Given the description of an element on the screen output the (x, y) to click on. 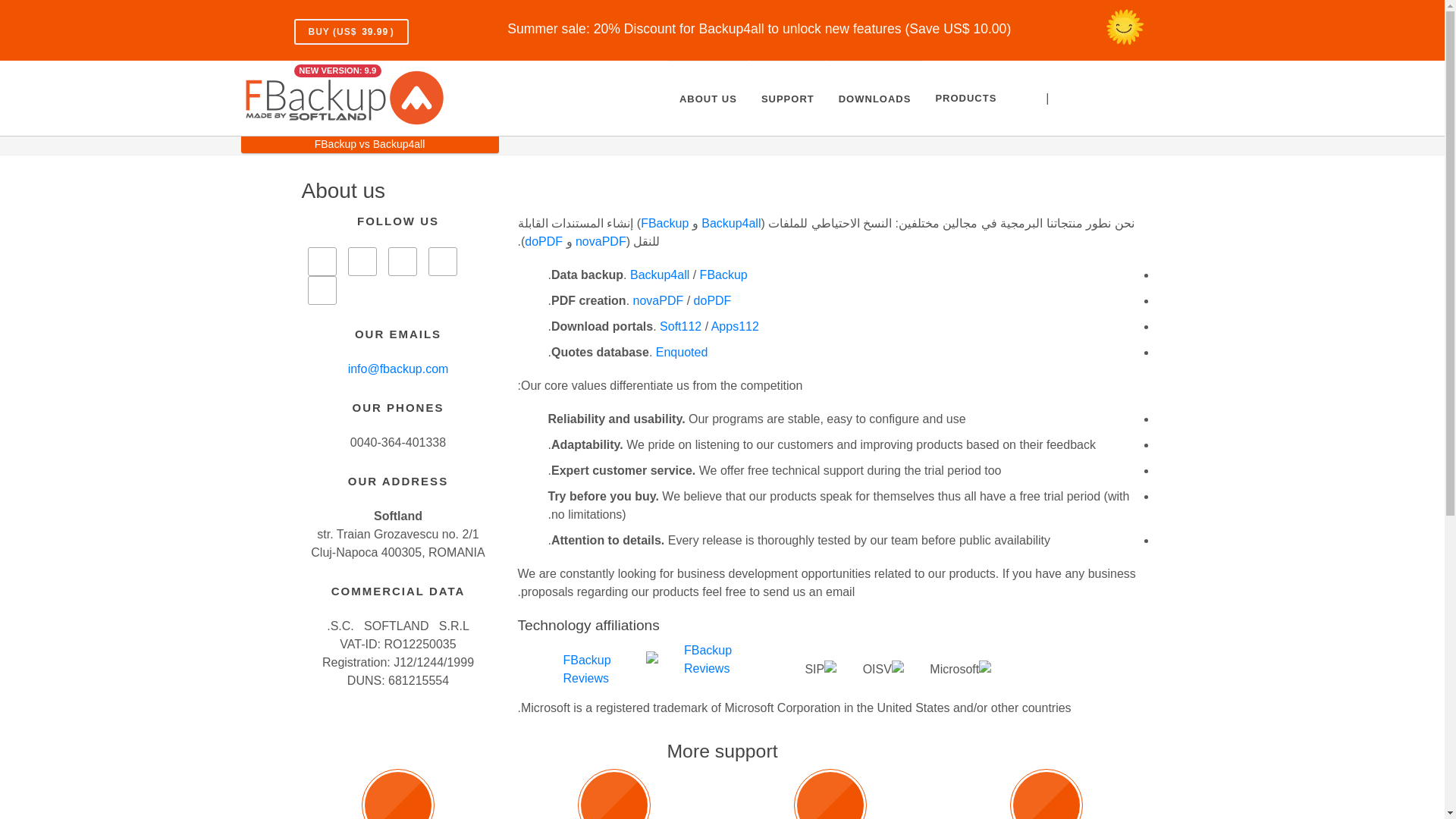
doPDF (713, 300)
Apps112 (734, 326)
Backup4all (659, 274)
Youtube (402, 261)
novaPDF (658, 300)
Linkedin (442, 261)
Twitter (361, 261)
Facebook (321, 261)
FBackup (724, 274)
SUPPORT (787, 99)
doPDF (543, 241)
DOWNLOADS (875, 99)
Soft112 (680, 326)
RSS (321, 290)
PRODUCTS (965, 98)
